Given the description of an element on the screen output the (x, y) to click on. 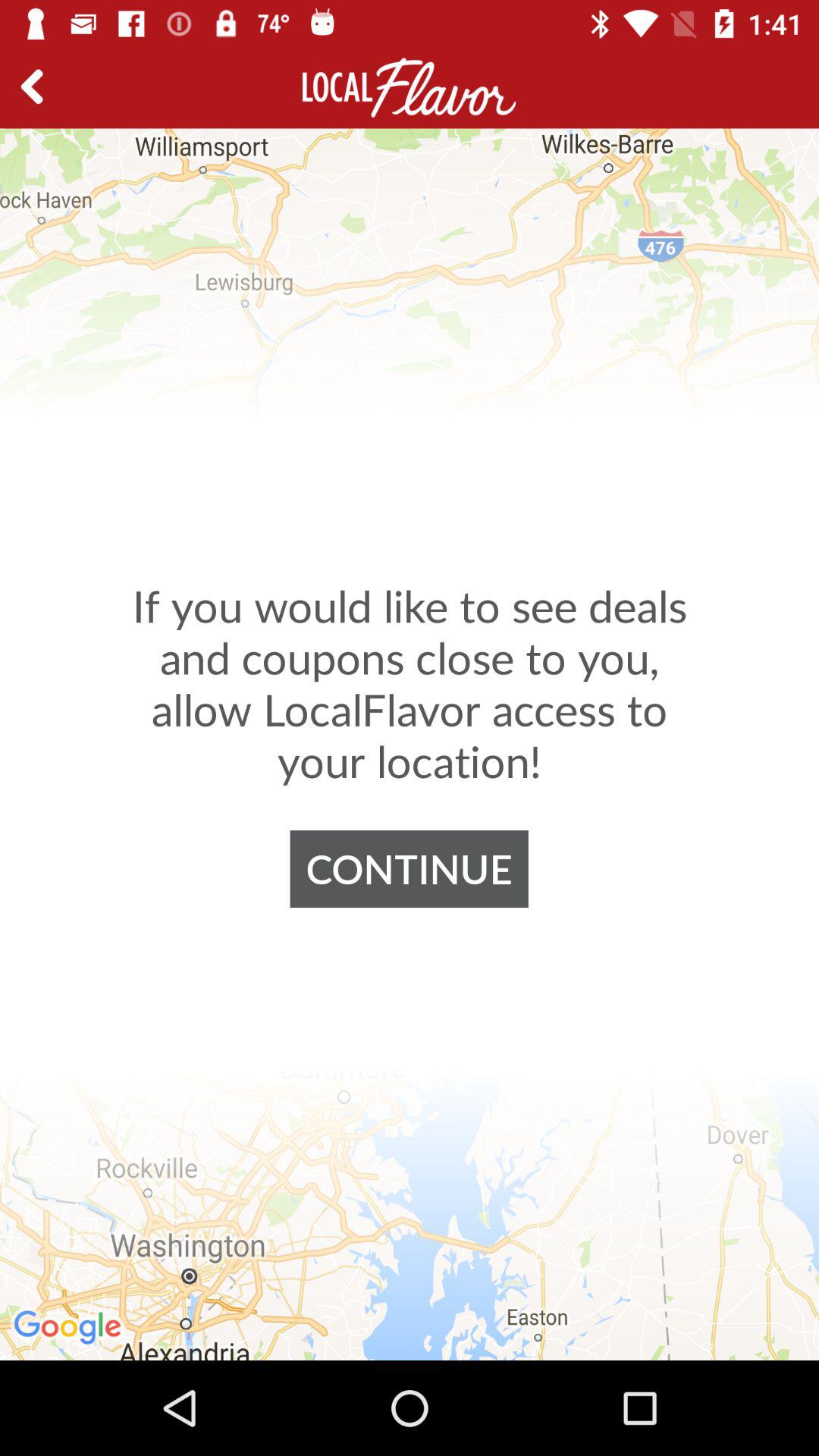
open item at the top left corner (37, 87)
